Given the description of an element on the screen output the (x, y) to click on. 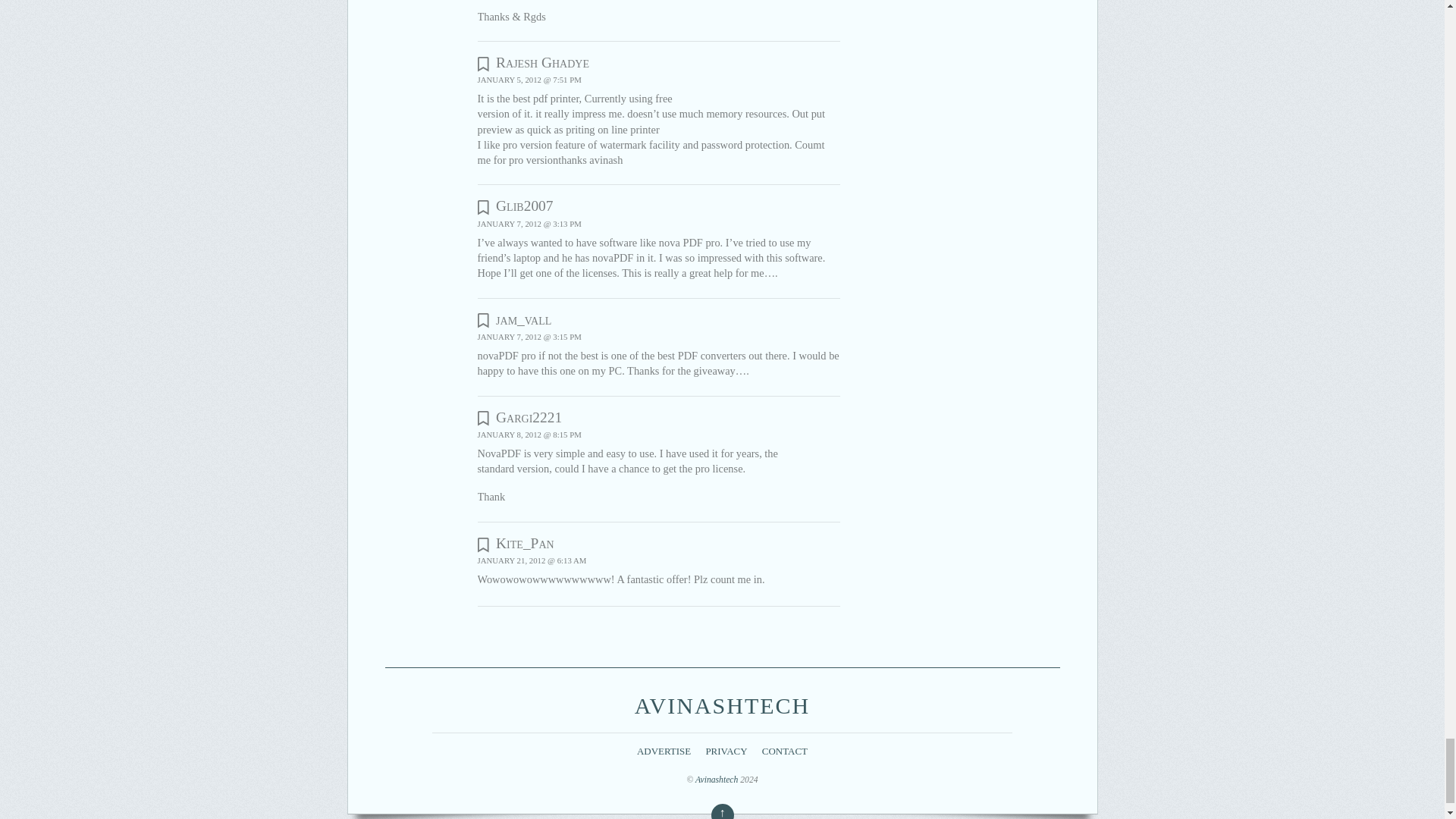
Avinashtech (721, 705)
